Given the description of an element on the screen output the (x, y) to click on. 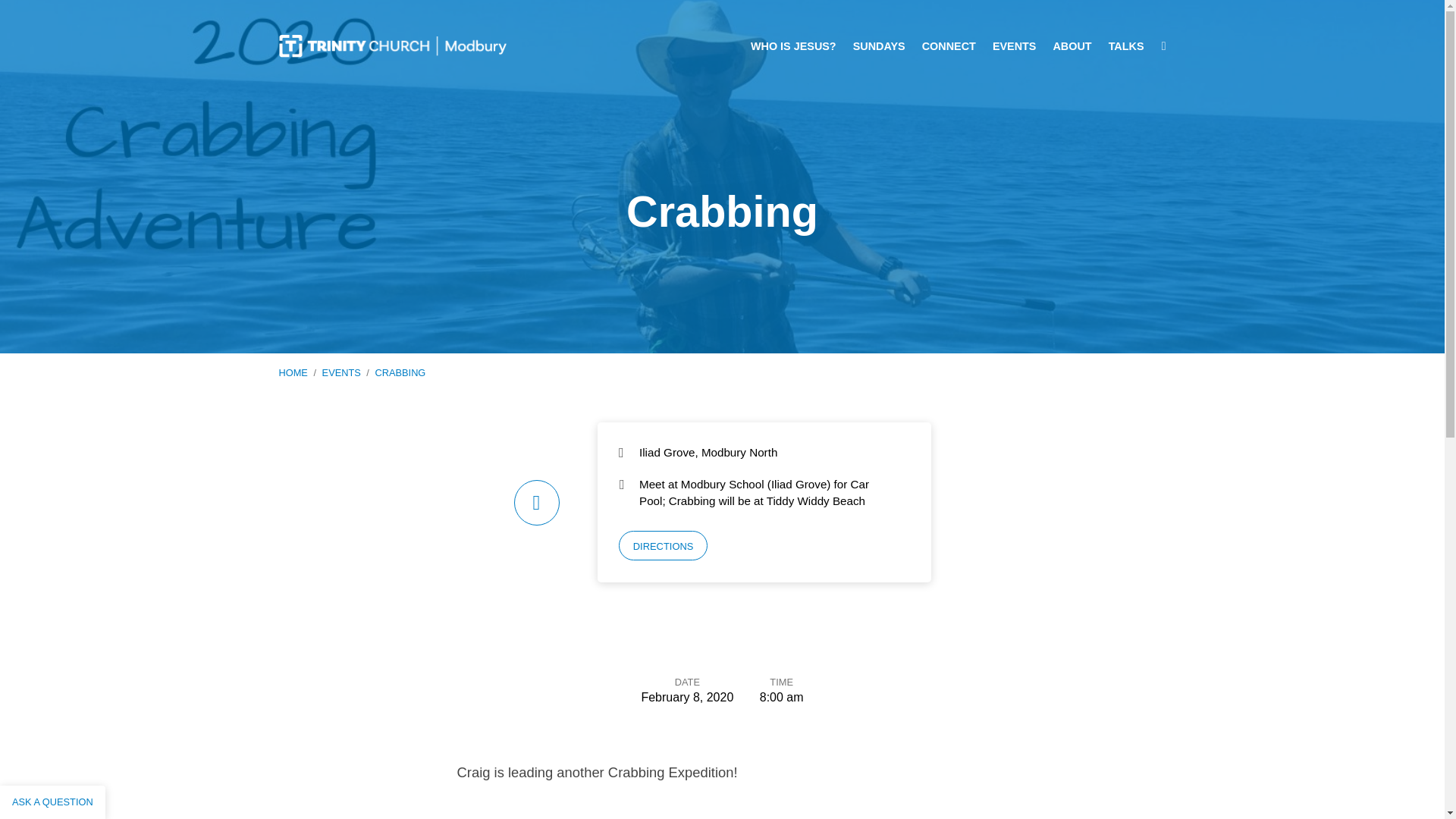
CONNECT (948, 45)
EVENTS (1014, 45)
SUNDAYS (879, 45)
EVENTS (341, 372)
HOME (293, 372)
CRABBING (399, 372)
WHO IS JESUS? (793, 45)
TALKS (1126, 45)
ABOUT (1071, 45)
DIRECTIONS (662, 545)
